Given the description of an element on the screen output the (x, y) to click on. 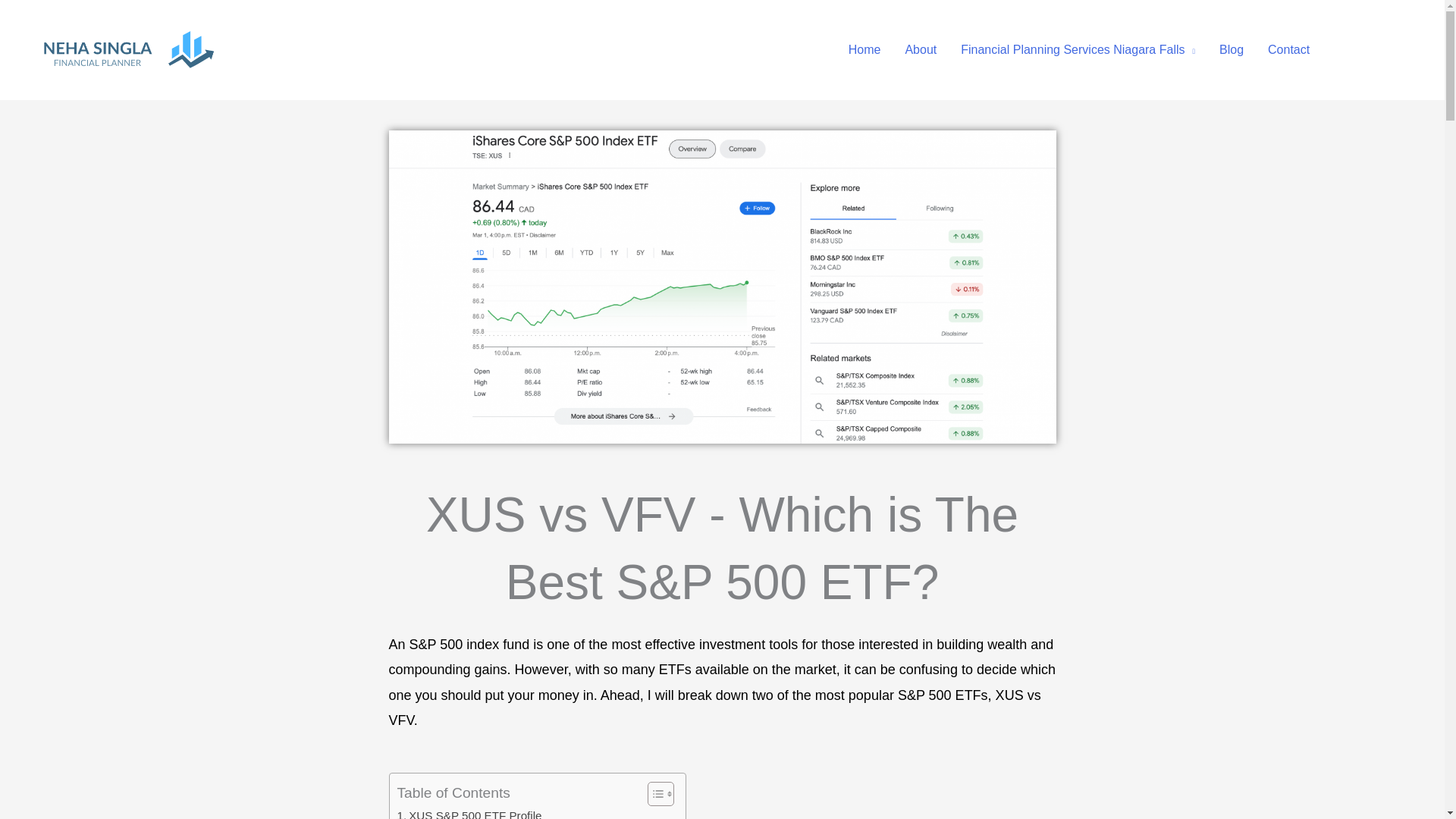
About (920, 49)
Contact (1288, 49)
Blog (1231, 49)
Financial Planning Services Niagara Falls (1078, 49)
Home (864, 49)
Contact Me (1382, 49)
